Given the description of an element on the screen output the (x, y) to click on. 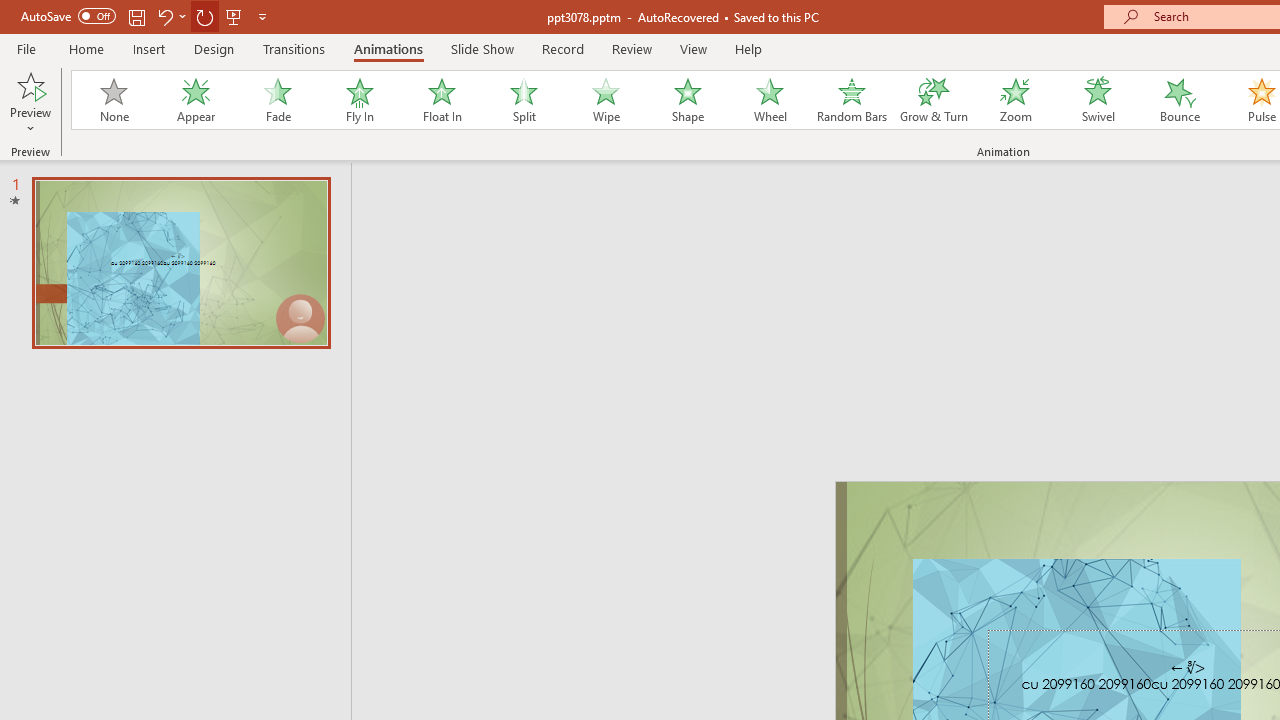
Bounce (1180, 100)
Swivel (1098, 100)
Grow & Turn (934, 100)
TextBox 7 (1188, 668)
